Given the description of an element on the screen output the (x, y) to click on. 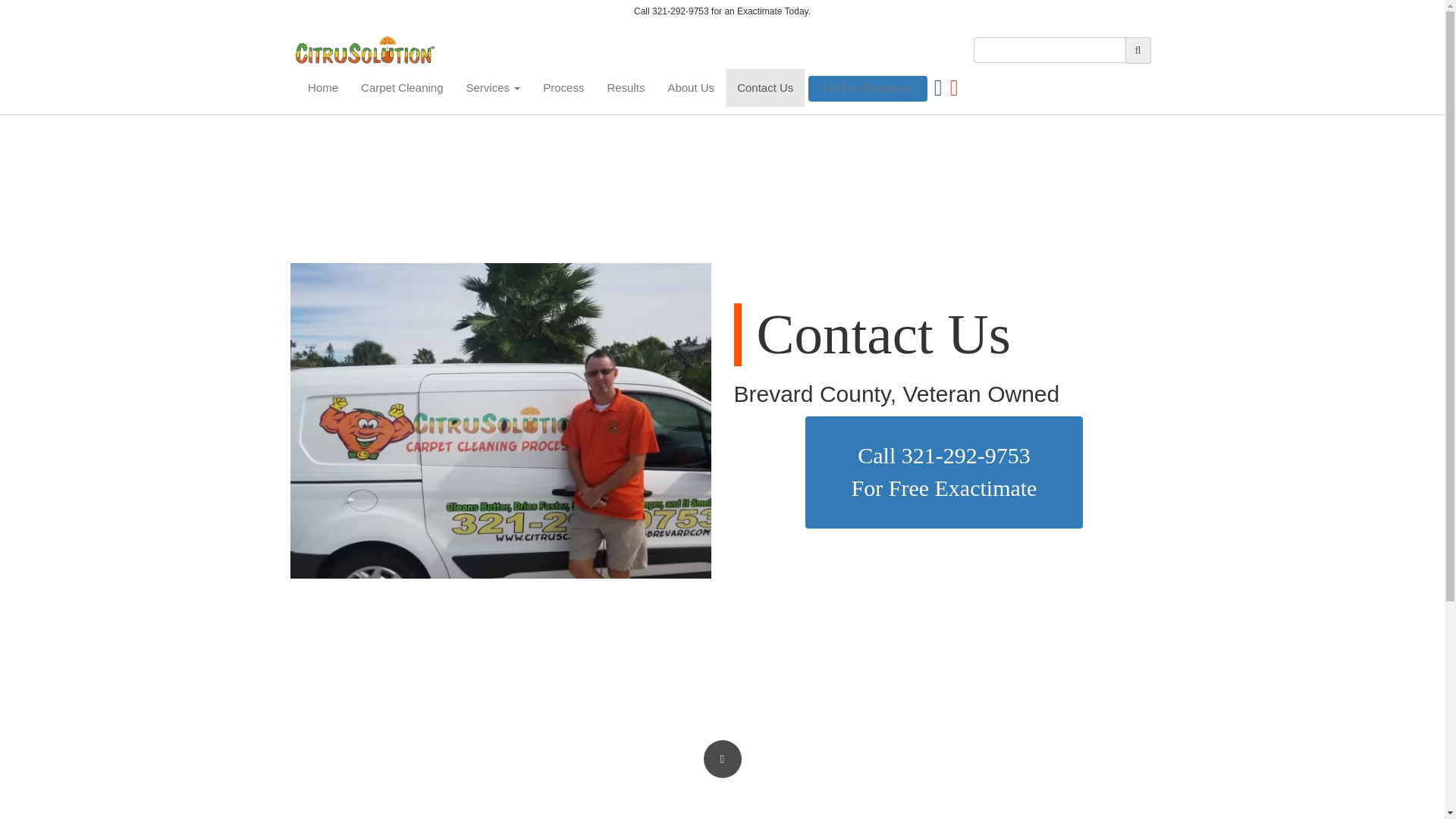
Contact Us (765, 87)
Home (944, 472)
Get Free Exactimate (323, 87)
Carpet Cleaning (867, 88)
Process (401, 87)
About Us (563, 87)
Results (690, 87)
Services (625, 87)
